Given the description of an element on the screen output the (x, y) to click on. 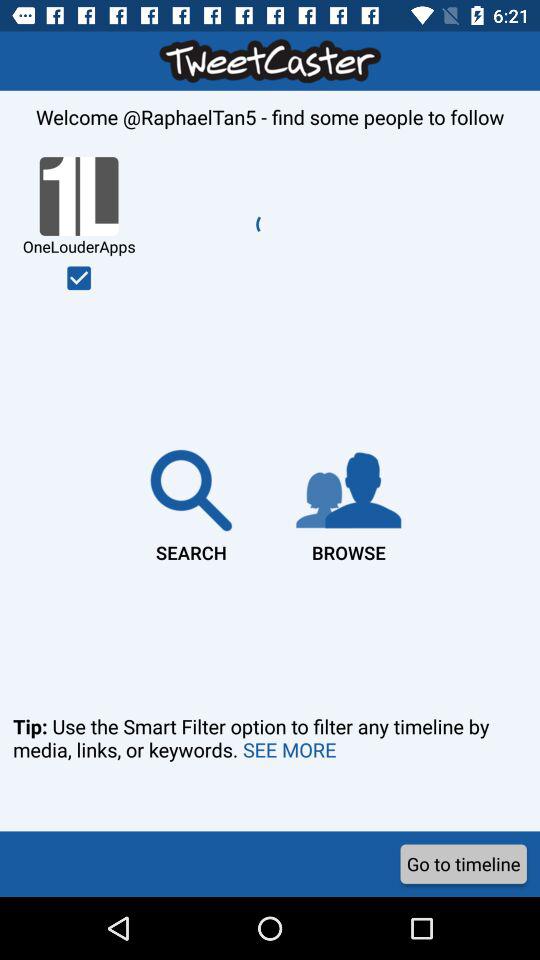
turn on icon below onelouderapps icon (79, 278)
